Given the description of an element on the screen output the (x, y) to click on. 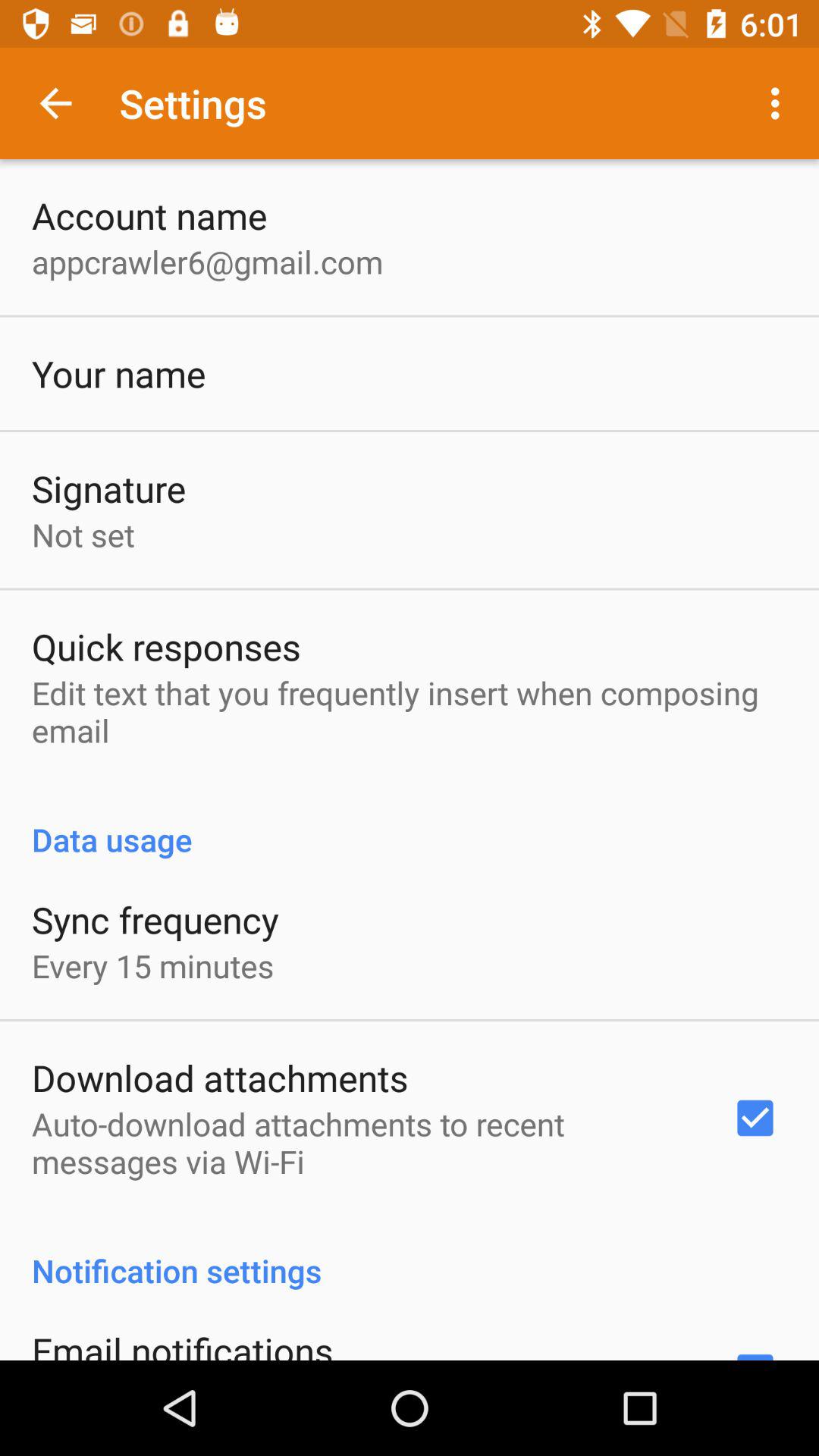
select edit text that app (409, 711)
